Given the description of an element on the screen output the (x, y) to click on. 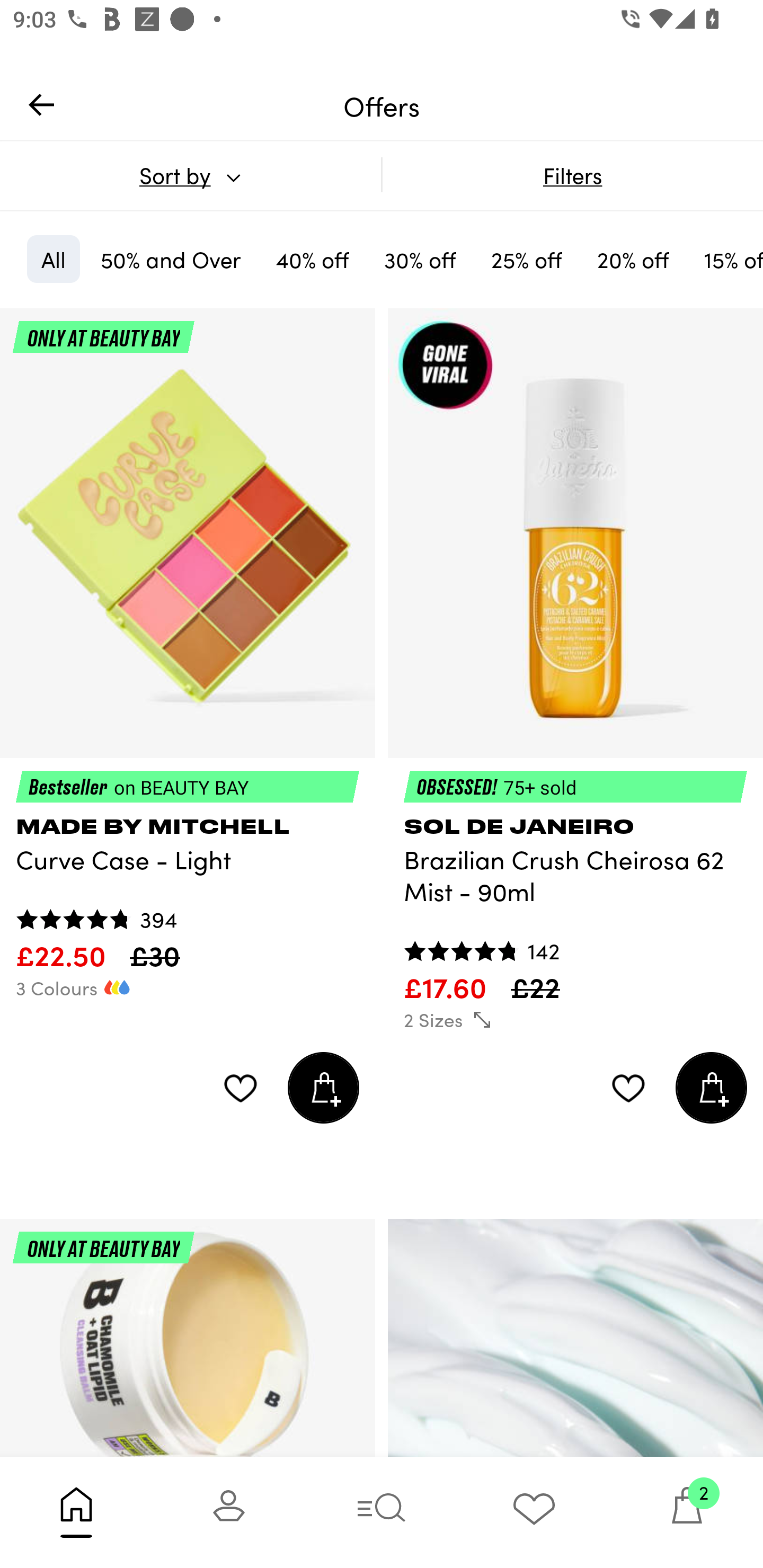
Sort by (190, 174)
Filters (572, 174)
All (53, 258)
50% and Over (170, 258)
40% off (312, 258)
30% off (420, 258)
25% off (526, 258)
20% off (632, 258)
15% off (726, 258)
2 (686, 1512)
